Given the description of an element on the screen output the (x, y) to click on. 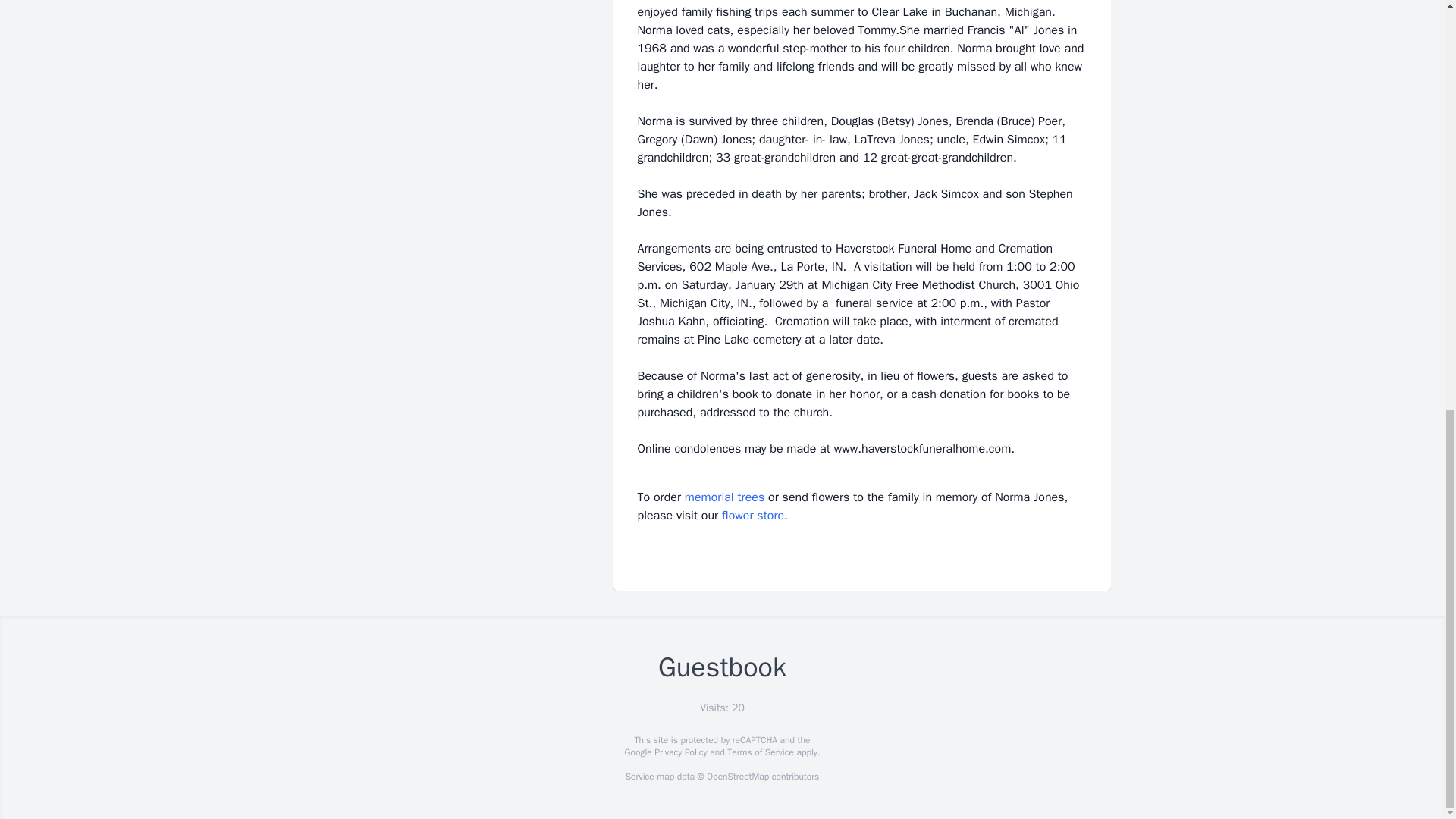
memorial trees (724, 497)
Privacy Policy (679, 752)
OpenStreetMap (737, 776)
Terms of Service (759, 752)
flower store (753, 515)
